Given the description of an element on the screen output the (x, y) to click on. 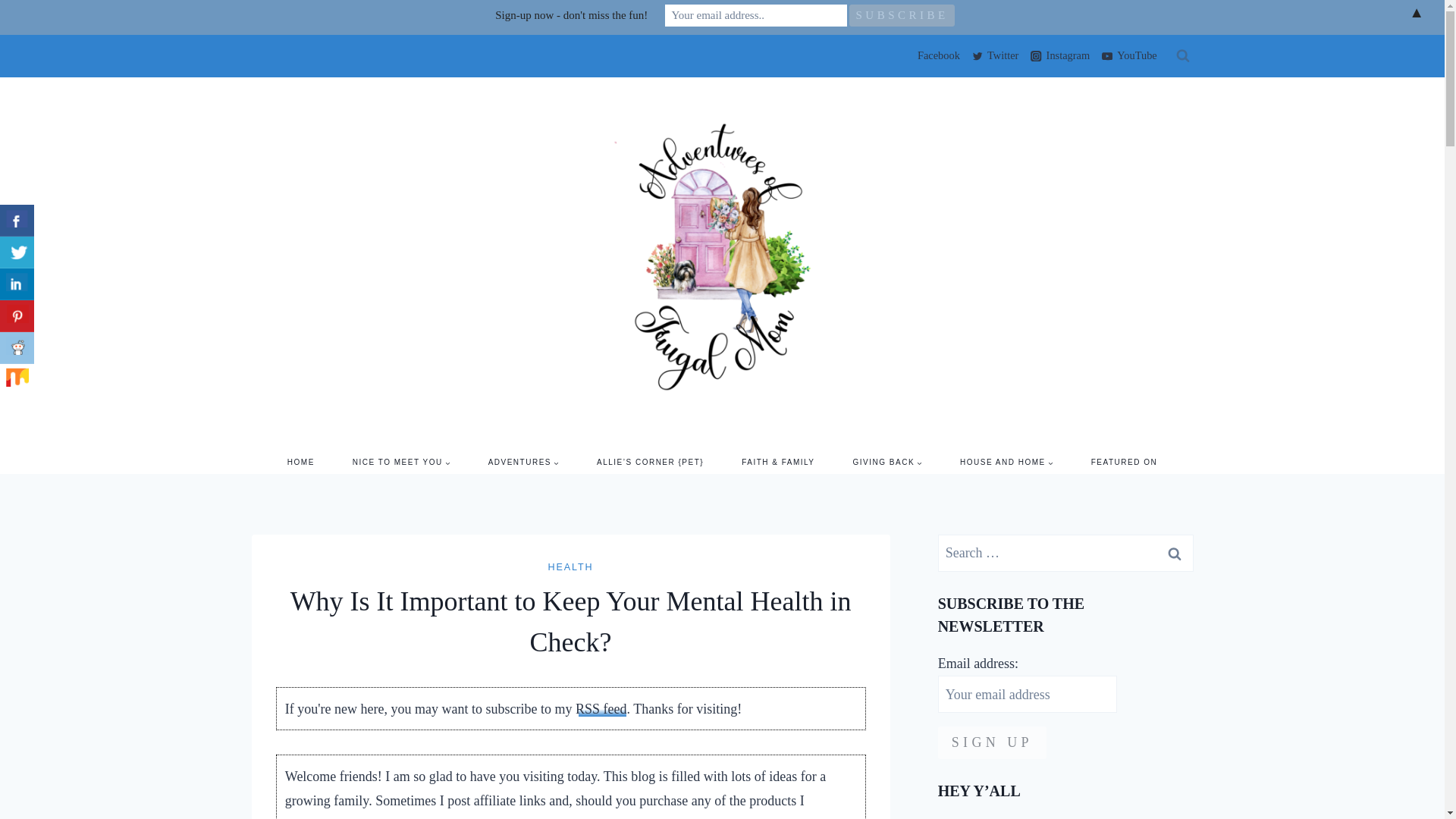
Facebook (935, 56)
NICE TO MEET YOU (400, 462)
HOUSE AND HOME (1005, 462)
Search (1174, 552)
FEATURED ON (1123, 462)
Instagram (1059, 56)
YouTube (1128, 56)
Twitter (995, 56)
ADVENTURES (523, 462)
GIVING BACK (888, 462)
Subscribe (901, 15)
Sign up (991, 742)
Search (1174, 552)
HOME (300, 462)
